Given the description of an element on the screen output the (x, y) to click on. 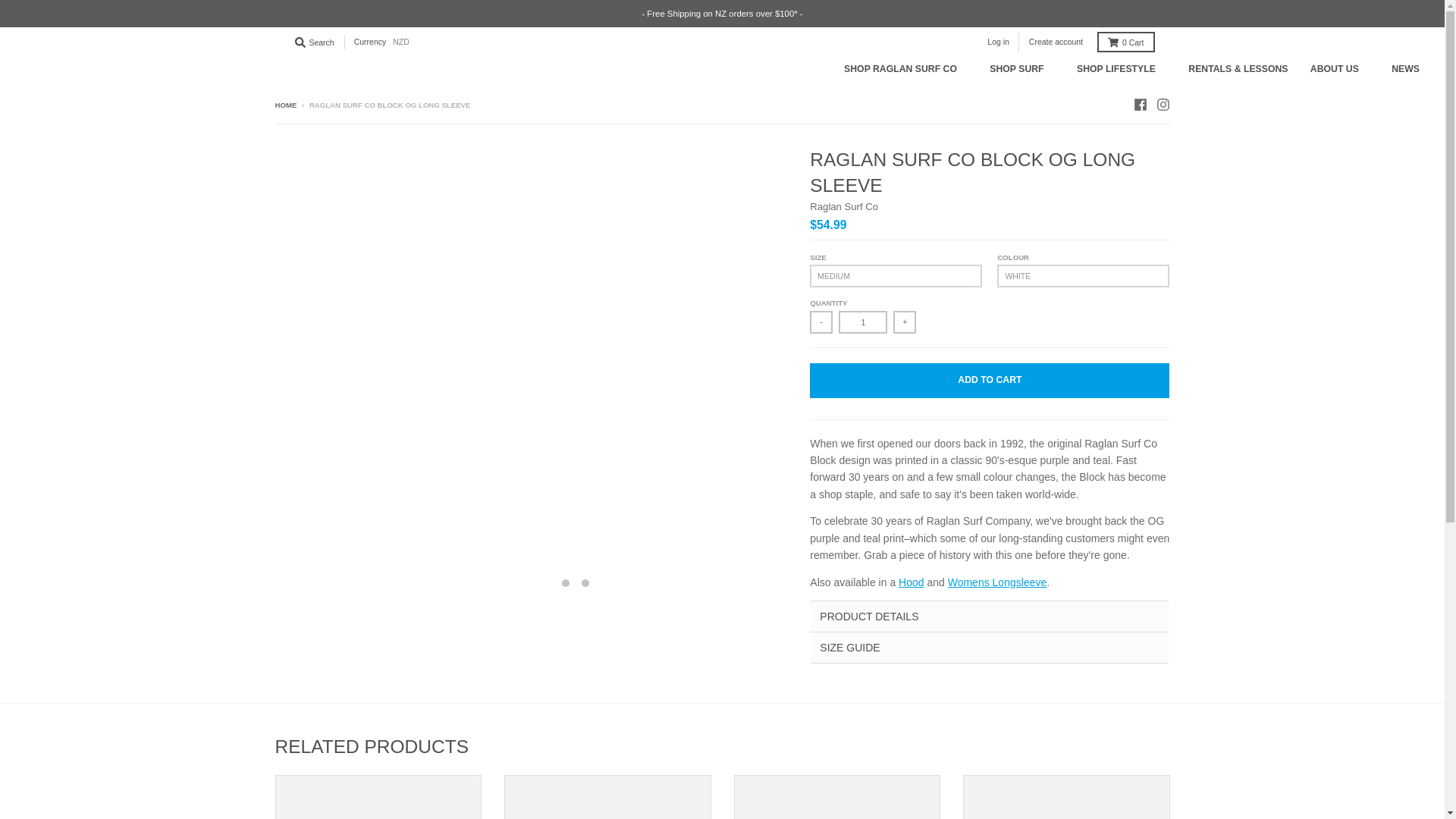
0 Cart (1125, 41)
Raglan Surf Co (843, 206)
SHOP RAGLAN SURF CO (905, 69)
Search (313, 41)
Log in (997, 41)
Instagram - Raglan Surf Co. (1162, 104)
Back to the frontpage (286, 104)
SHOP SURF (1021, 69)
Create account (1056, 41)
Facebook - Raglan Surf Co. (1139, 104)
